Given the description of an element on the screen output the (x, y) to click on. 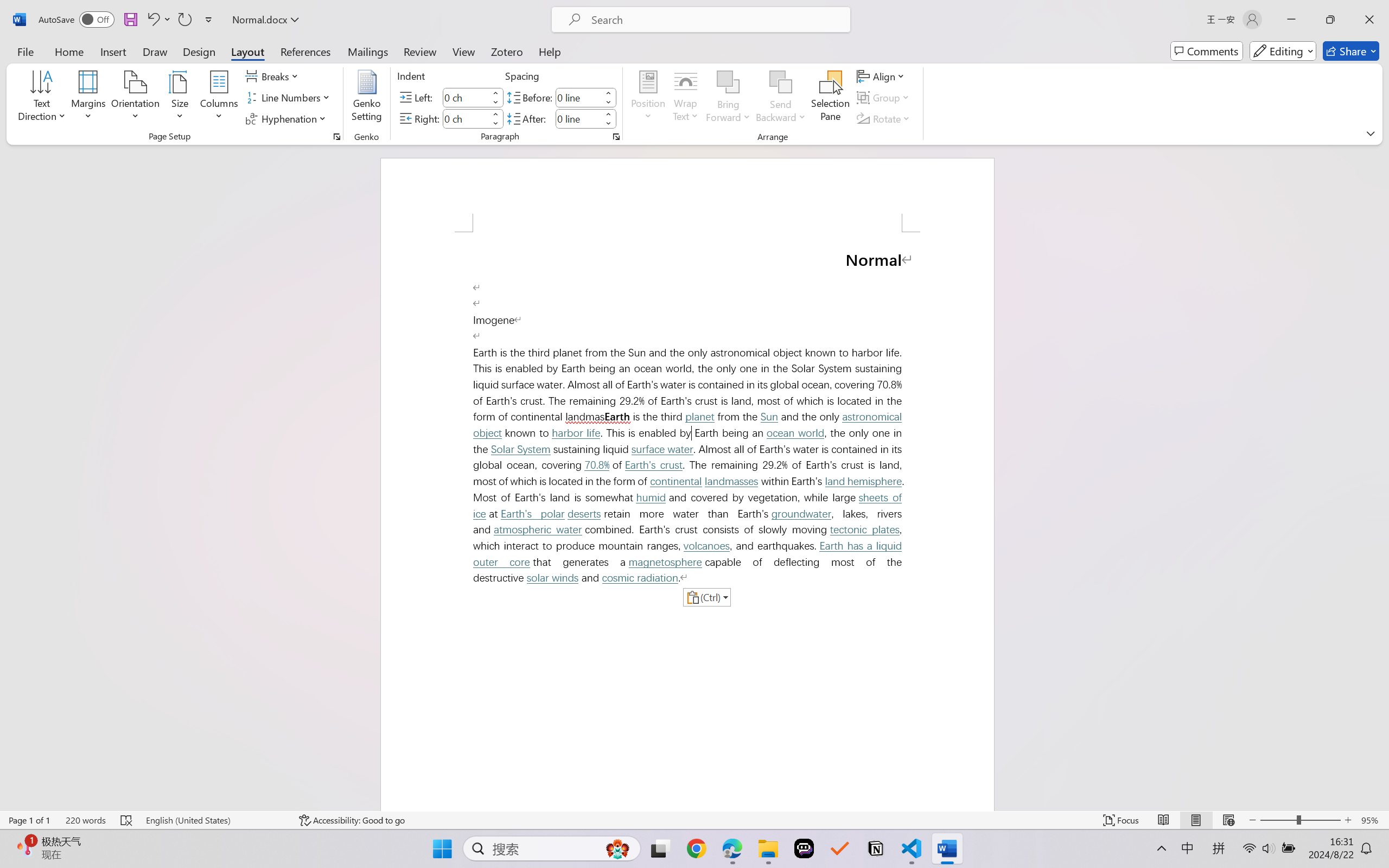
land hemisphere (863, 480)
Paragraph... (615, 136)
Spacing After (578, 118)
Text Direction (42, 97)
Indent Left (465, 96)
Spelling and Grammar Check Errors (126, 819)
Line Numbers (289, 97)
tectonic plates (865, 529)
